Given the description of an element on the screen output the (x, y) to click on. 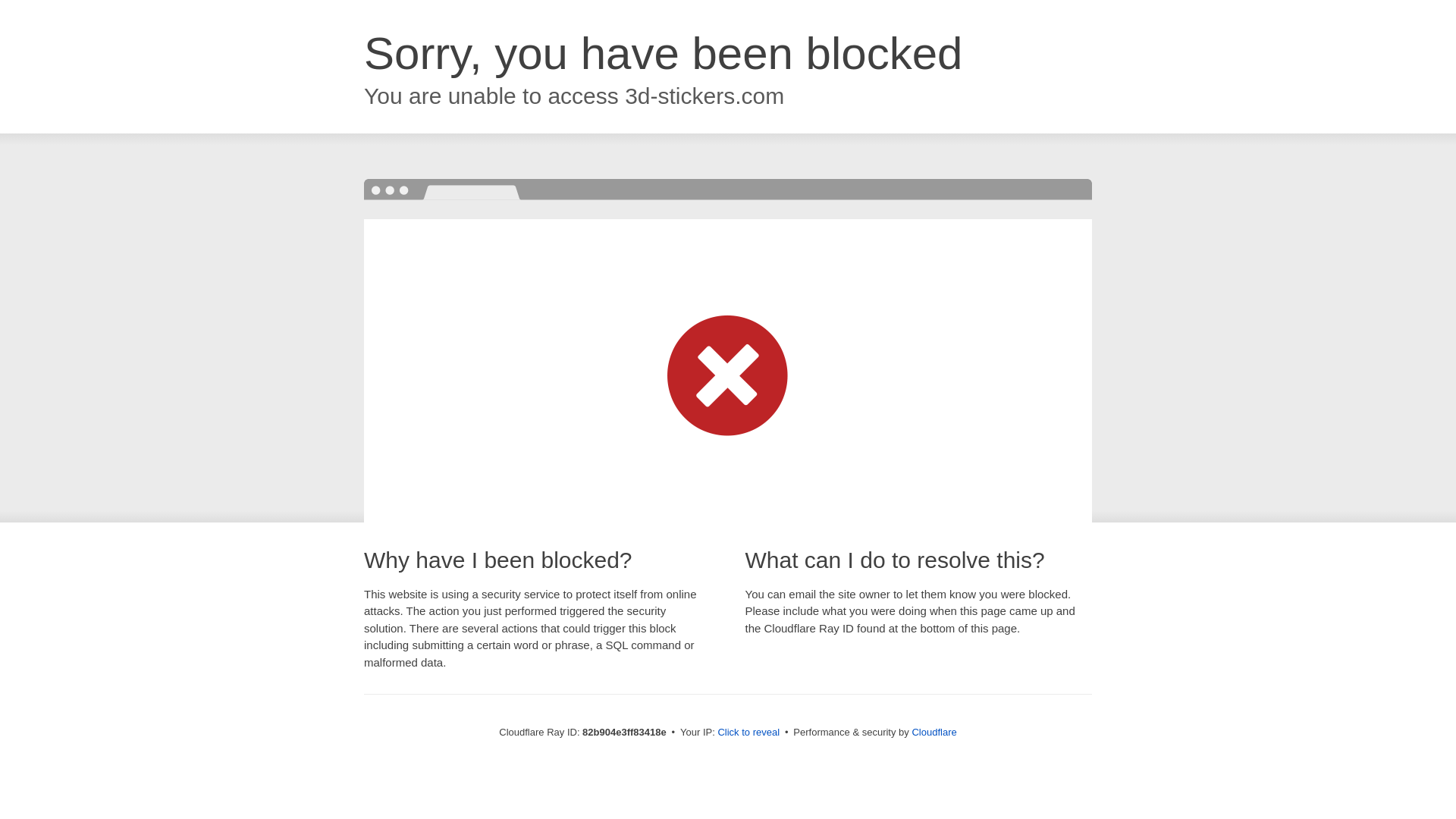
Click to reveal Element type: text (748, 732)
Cloudflare Element type: text (933, 731)
